Given the description of an element on the screen output the (x, y) to click on. 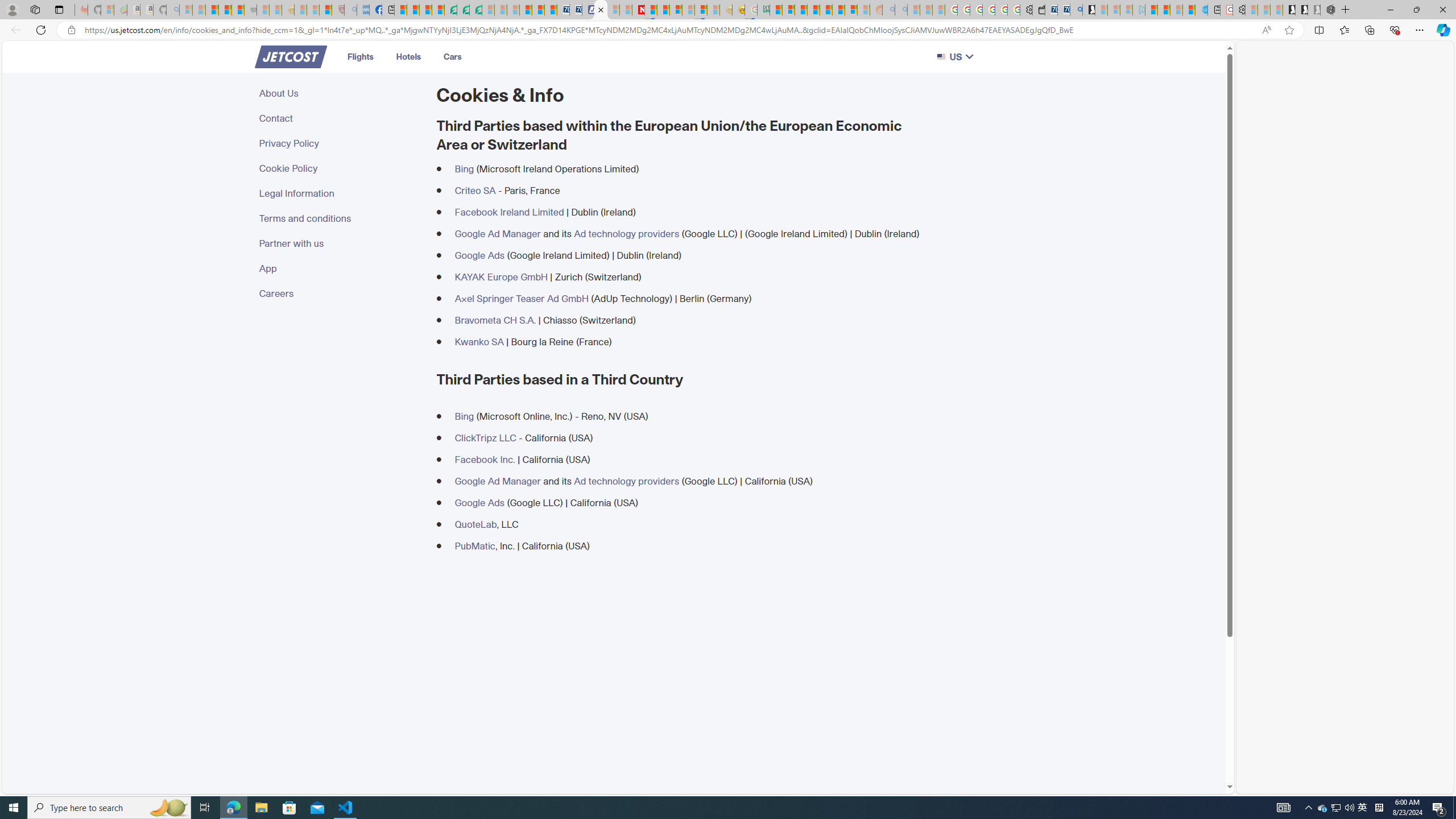
Cars (452, 56)
Cookie Policy (341, 168)
Terms of Use Agreement (463, 9)
